Given the description of an element on the screen output the (x, y) to click on. 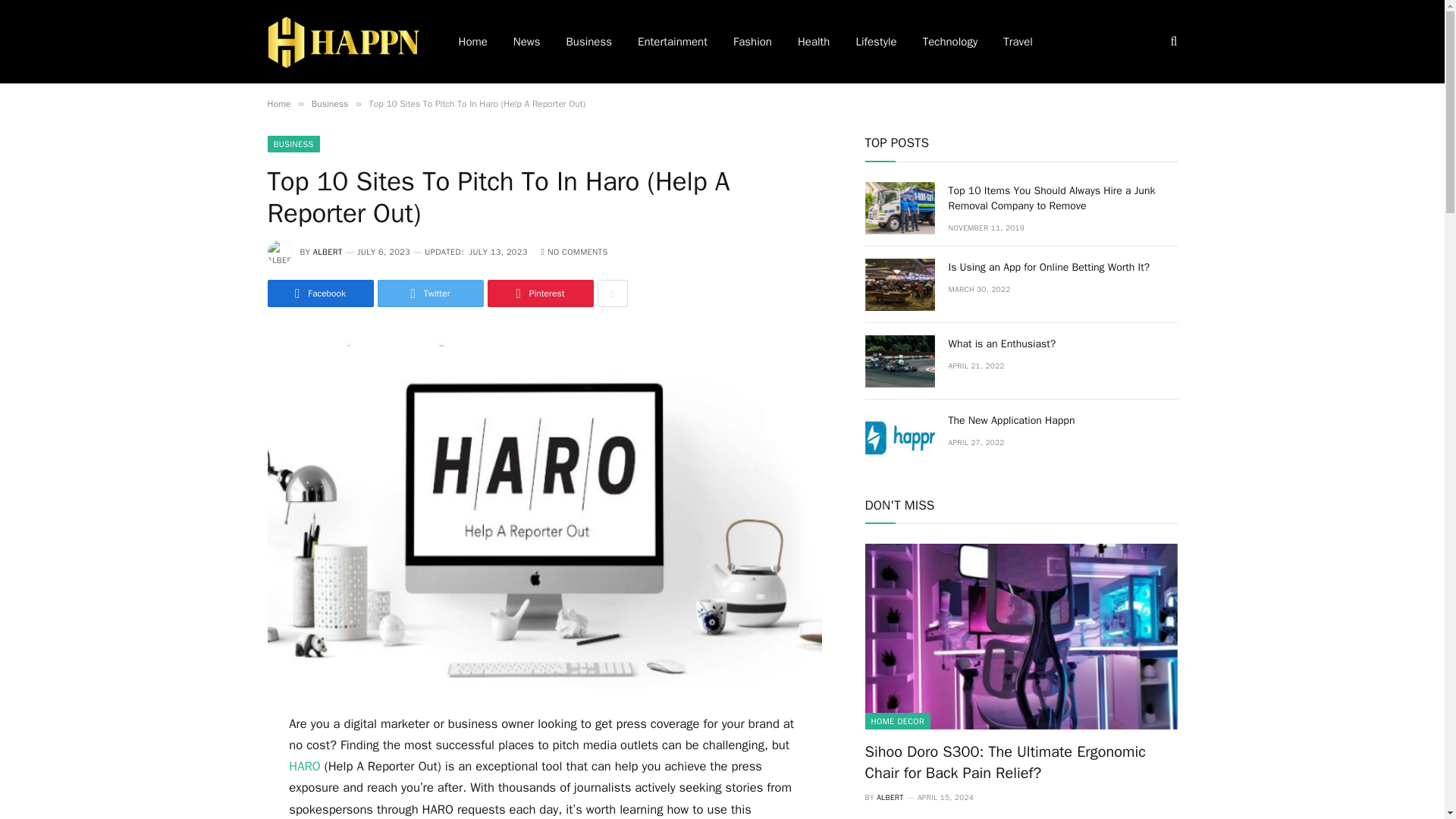
BUSINESS (292, 143)
Facebook (319, 293)
Posts by Albert (327, 251)
Technology (950, 41)
Share on Pinterest (539, 293)
Share on Facebook (319, 293)
Home (277, 103)
Entertainment (672, 41)
NO COMMENTS (574, 251)
ALBERT (327, 251)
